Given the description of an element on the screen output the (x, y) to click on. 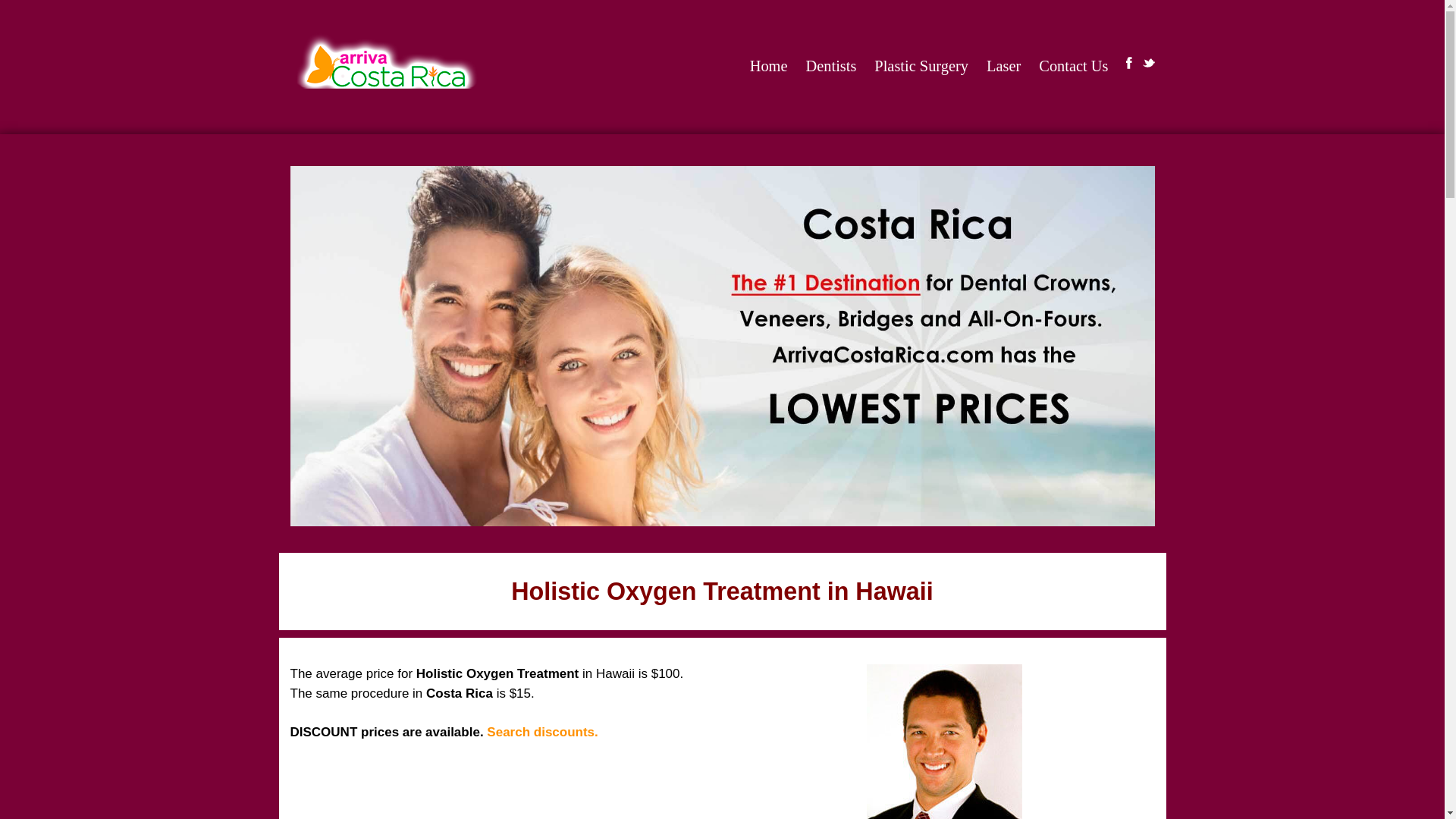
Contact Us (1073, 66)
Dentists (831, 66)
Laser (1003, 66)
Facebook (1128, 62)
Search discounts. (541, 731)
dr-ignaciovargas (944, 741)
Home (768, 66)
Twitter (1147, 62)
Plastic Surgery (921, 66)
